Given the description of an element on the screen output the (x, y) to click on. 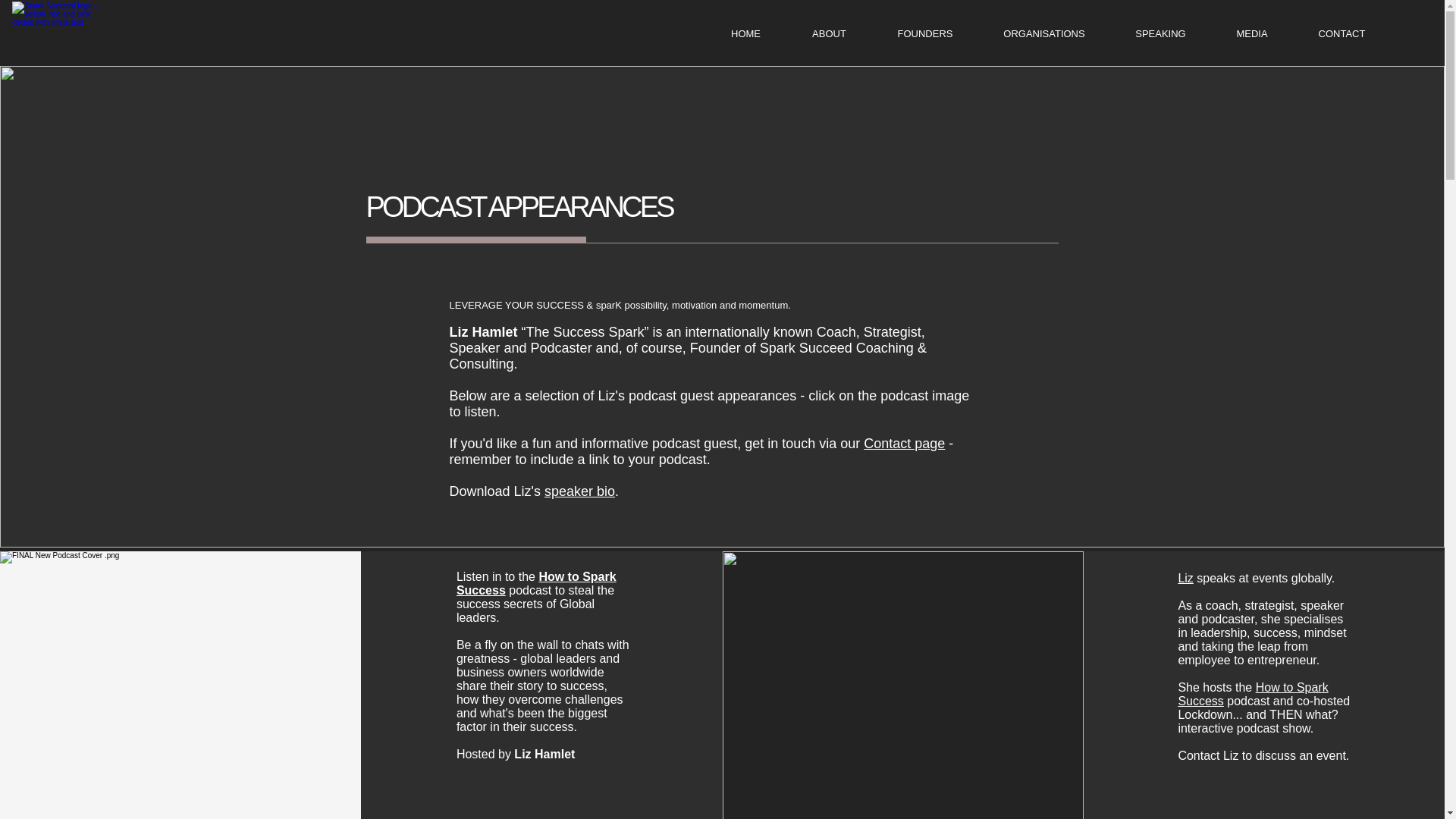
speaker bio (579, 491)
MEDIA (1251, 34)
SPEAKING (1160, 34)
Liz (1184, 577)
How to Spark Success (1252, 693)
Liz Hamlet (482, 331)
HOME (745, 34)
How to Spark Success (536, 583)
Contact page (903, 443)
CONTACT (1341, 34)
